Given the description of an element on the screen output the (x, y) to click on. 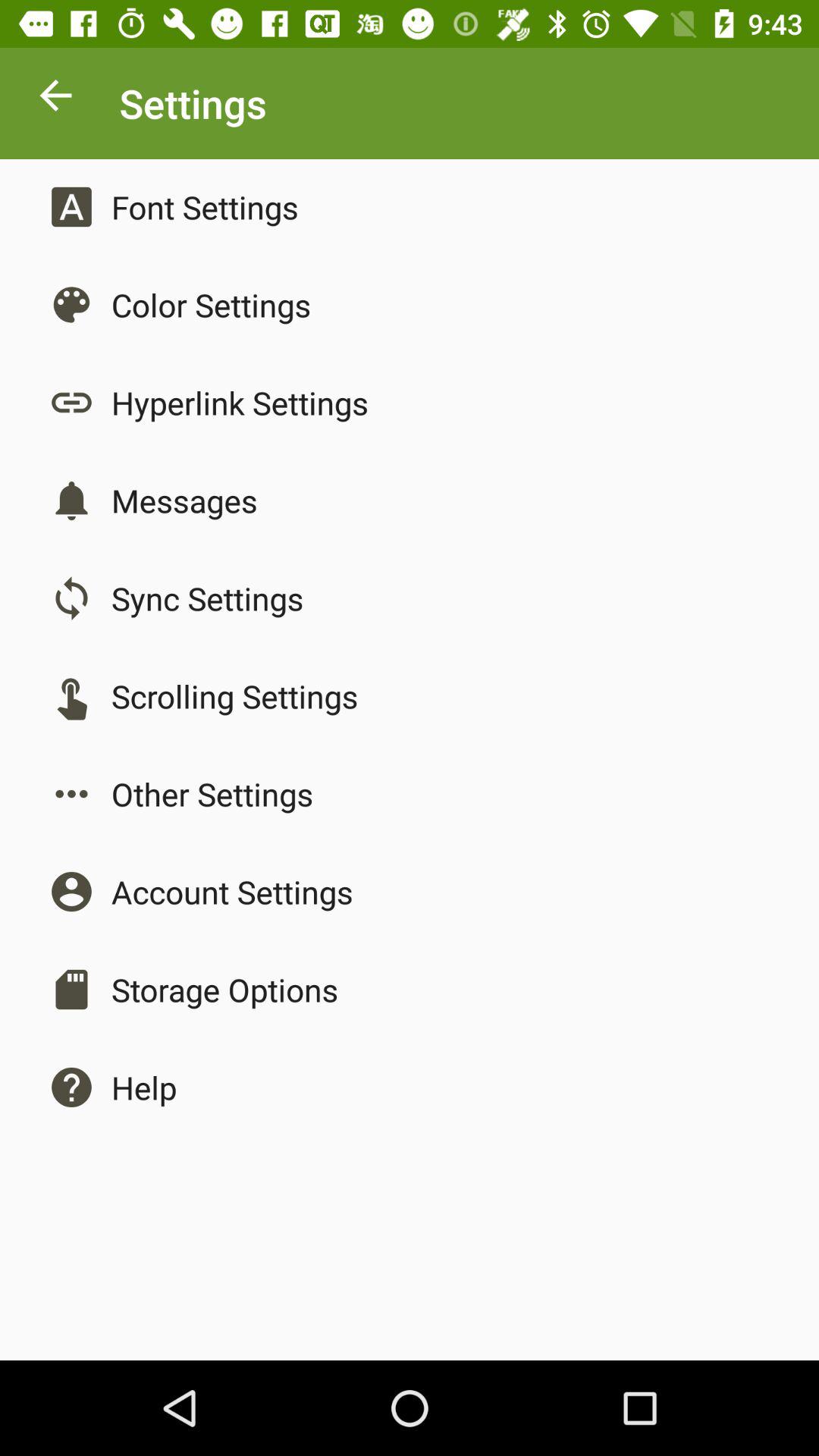
click the color settings item (211, 304)
